Given the description of an element on the screen output the (x, y) to click on. 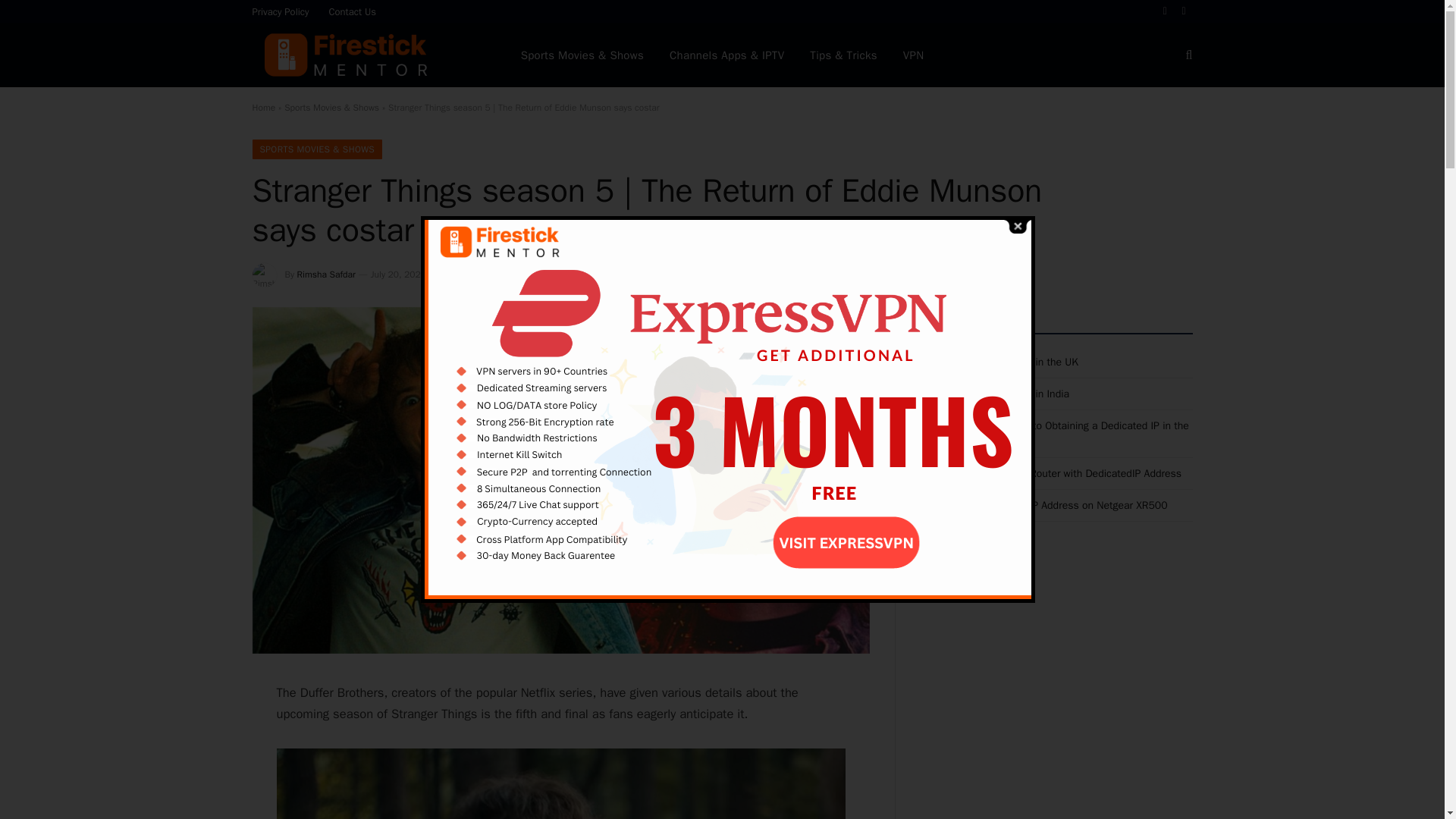
Posts by Rimsha Safdar (326, 274)
No Comments (594, 274)
Firestick Mentor (347, 54)
Rimsha Safdar (326, 274)
Contact Us (352, 11)
Home (263, 107)
Privacy Policy (280, 11)
